Given the description of an element on the screen output the (x, y) to click on. 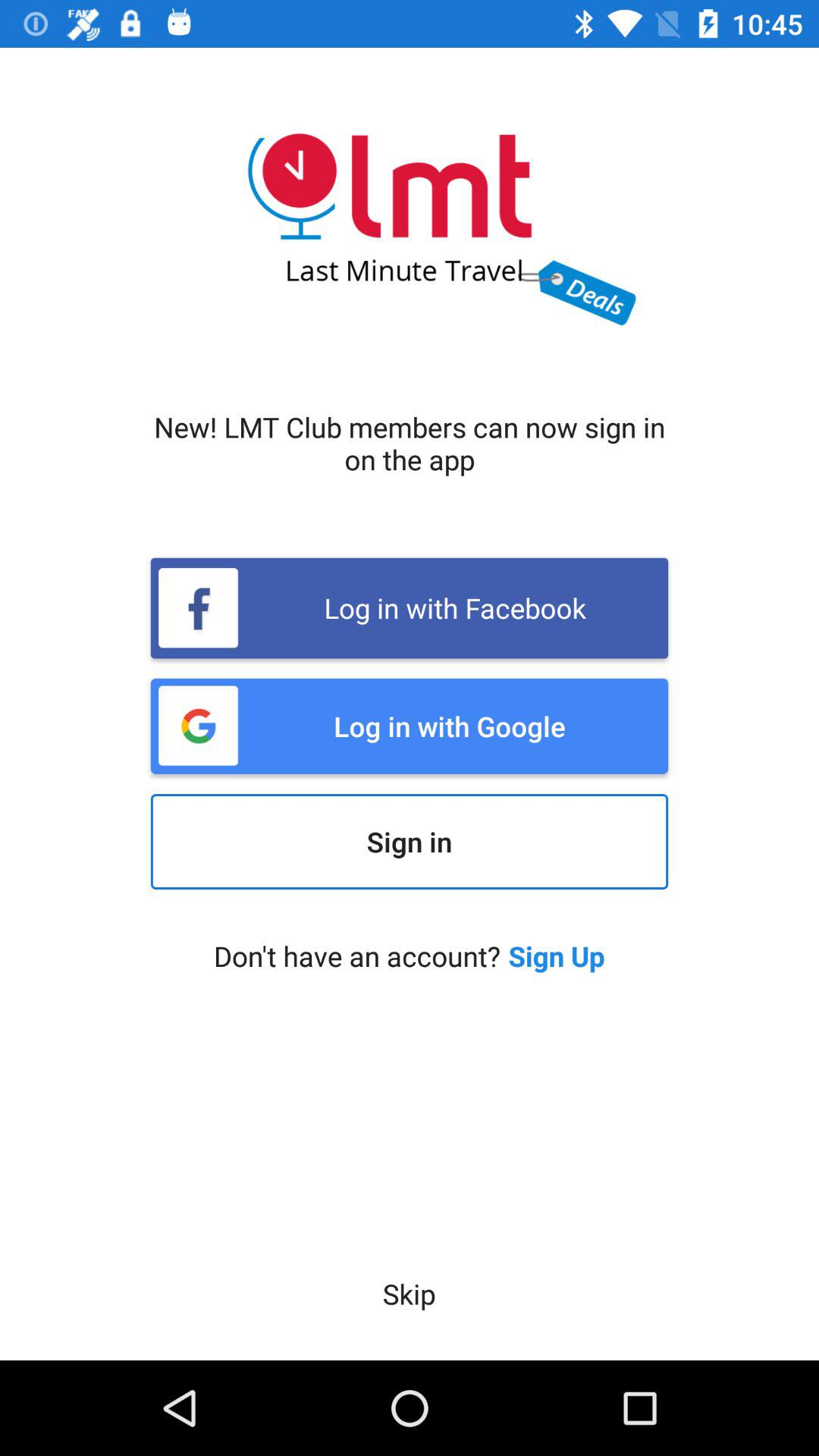
turn off item on the right (556, 955)
